Given the description of an element on the screen output the (x, y) to click on. 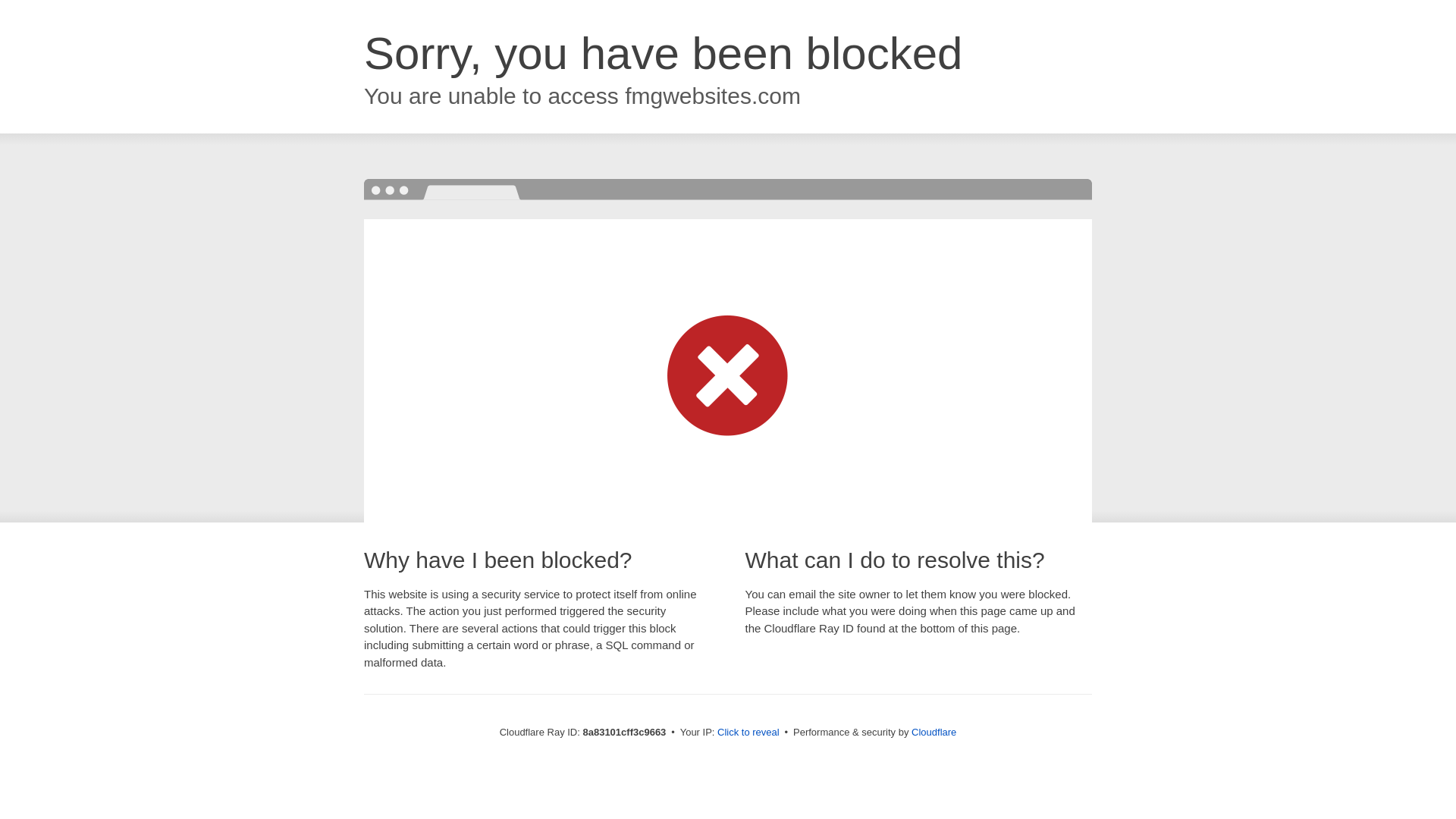
Click to reveal (747, 732)
Cloudflare (933, 731)
